Given the description of an element on the screen output the (x, y) to click on. 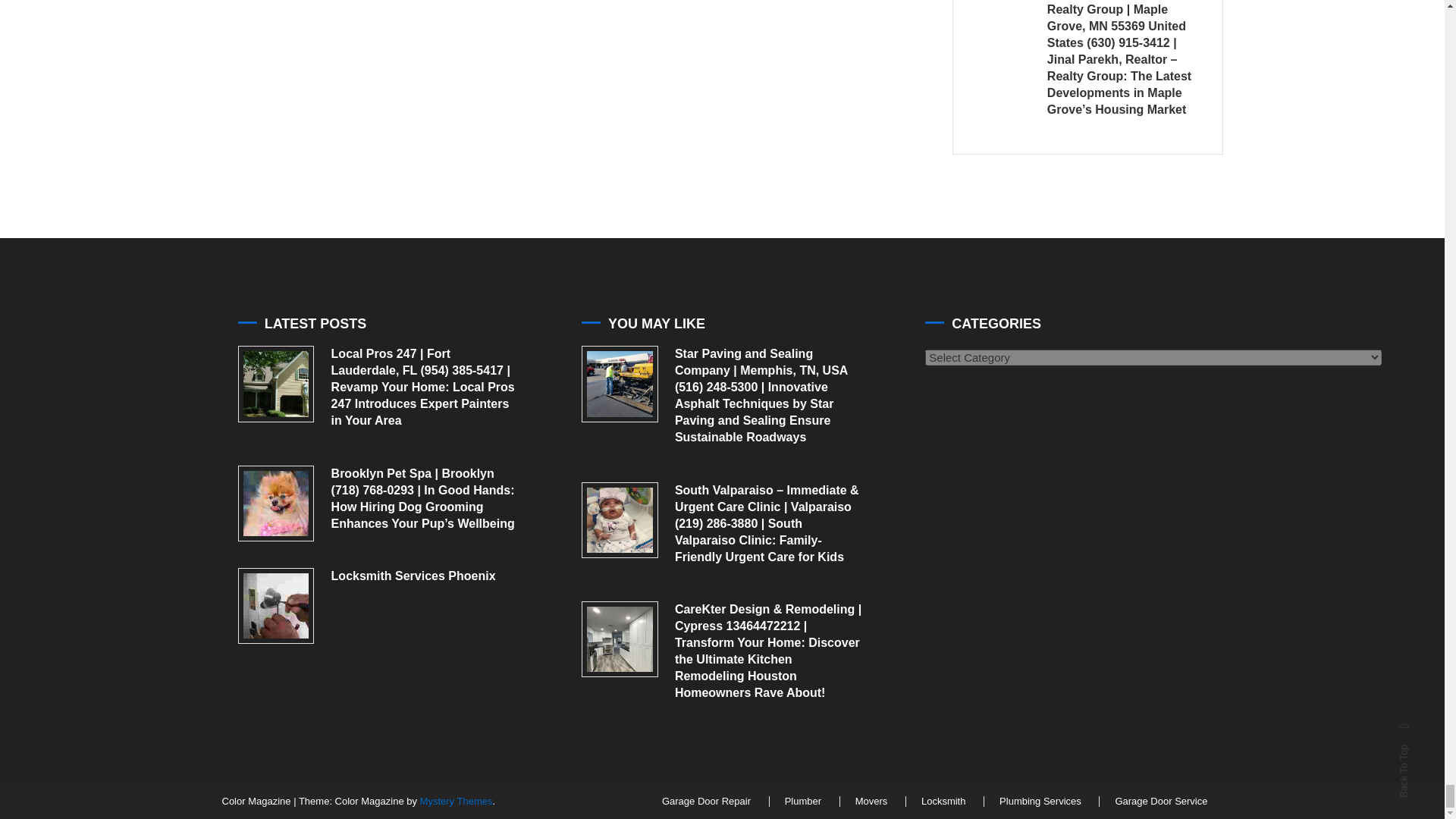
Locksmith Services Phoenix (276, 606)
